Given the description of an element on the screen output the (x, y) to click on. 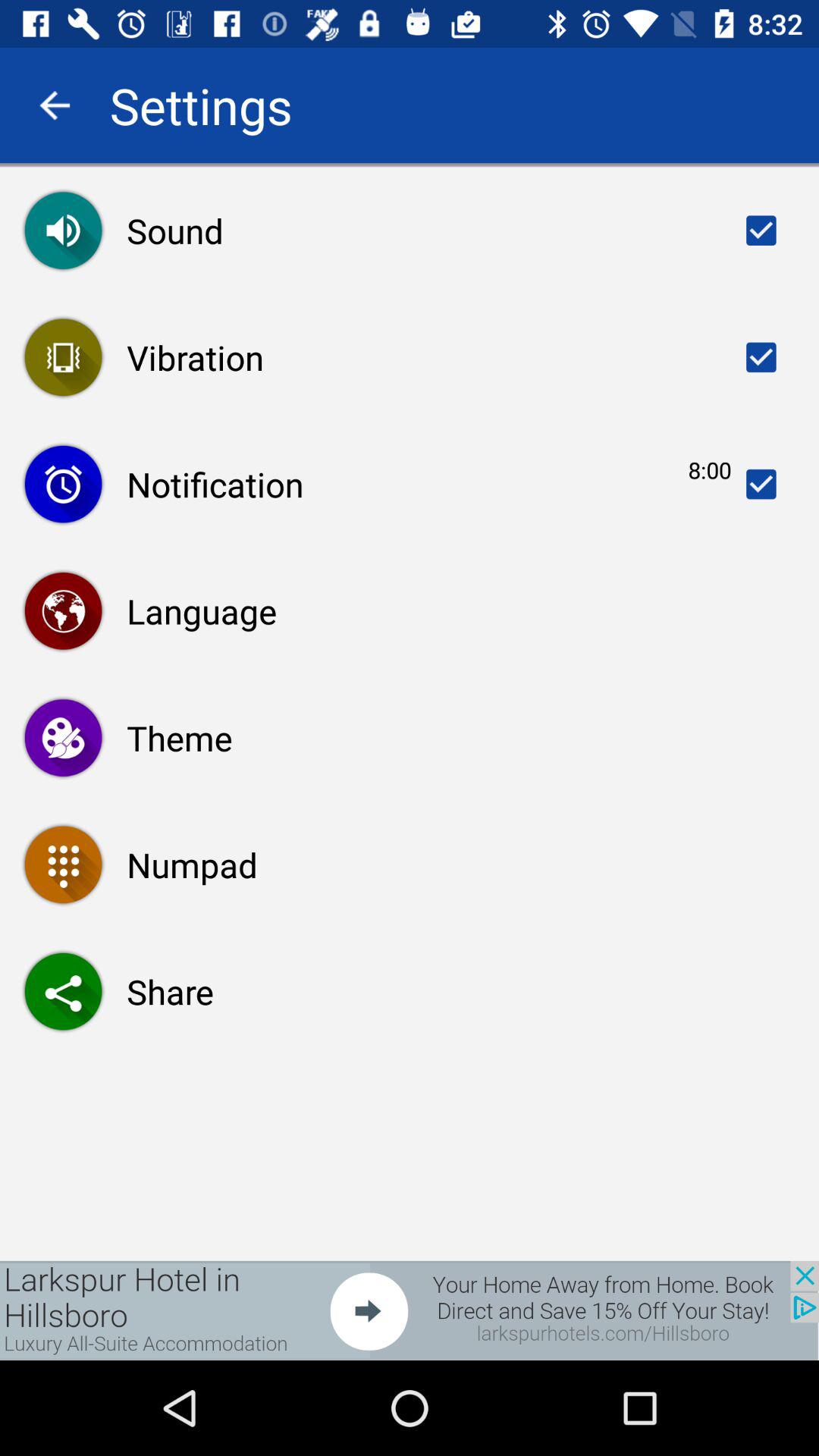
check box for switching vibration on off (761, 357)
